Given the description of an element on the screen output the (x, y) to click on. 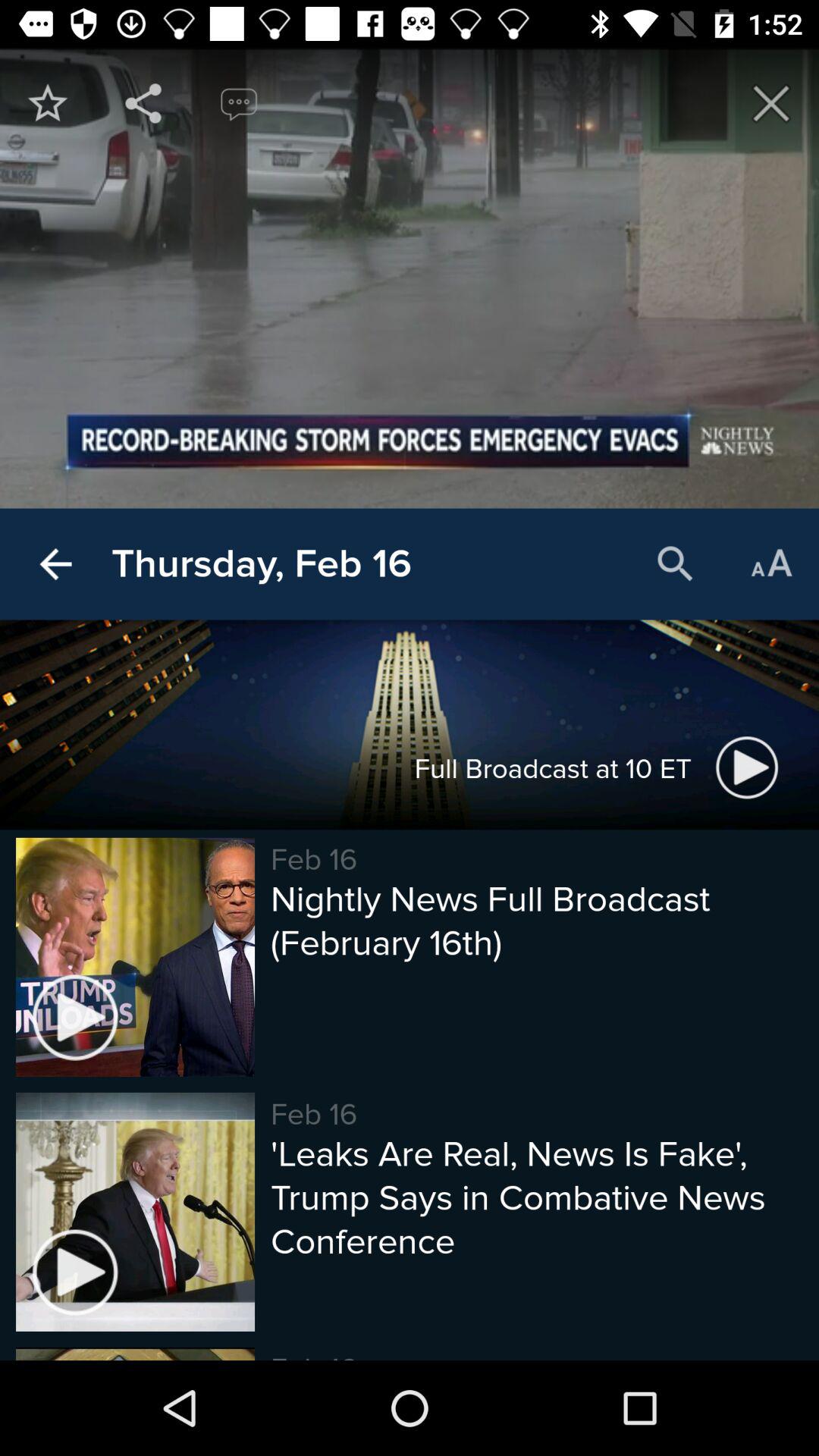
bookmark story (47, 103)
